Given the description of an element on the screen output the (x, y) to click on. 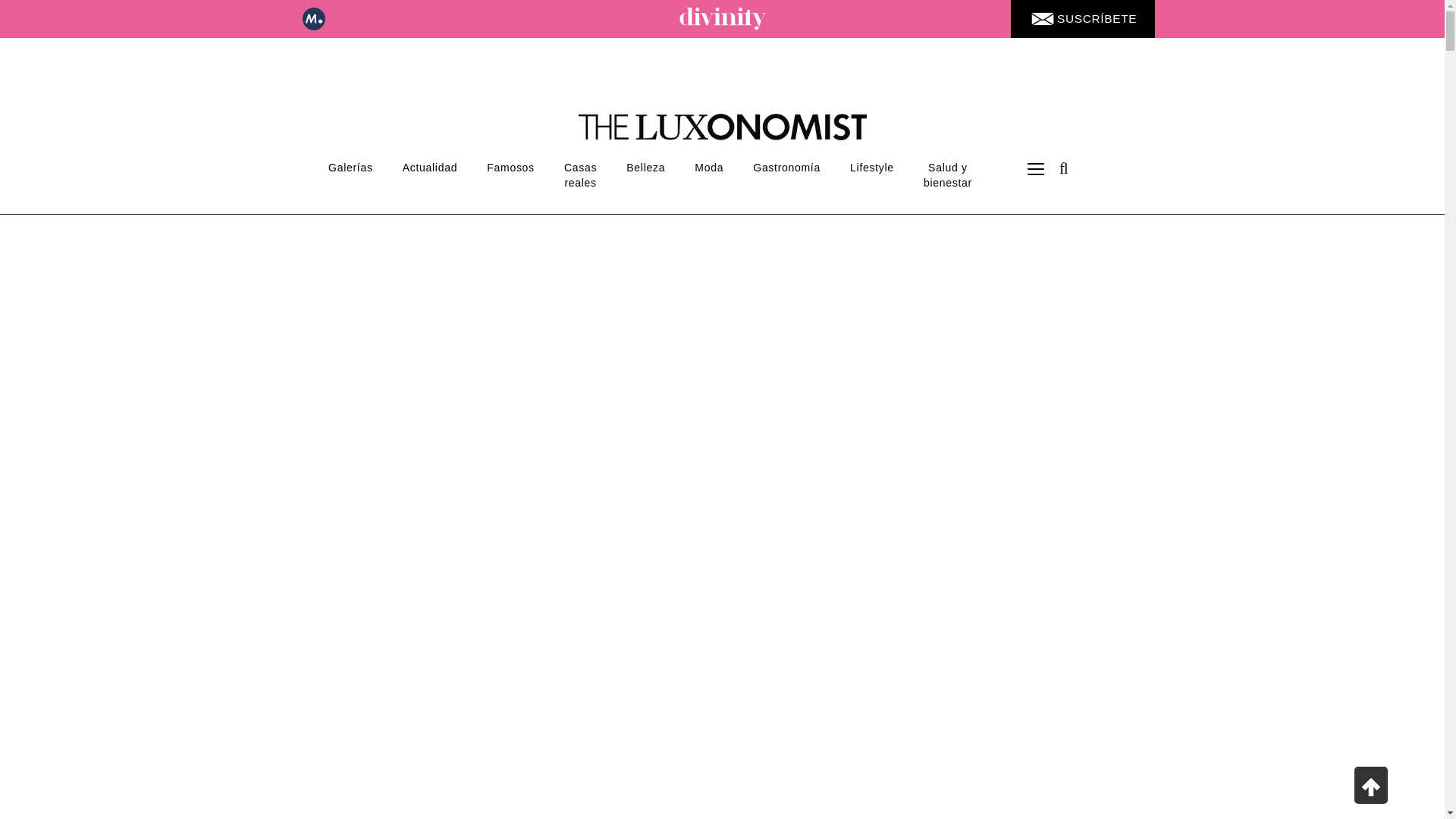
CASAS REALES (579, 175)
BELLEZA (645, 167)
FAMOSOS (510, 167)
ACTUALIDAD (429, 167)
